Given the description of an element on the screen output the (x, y) to click on. 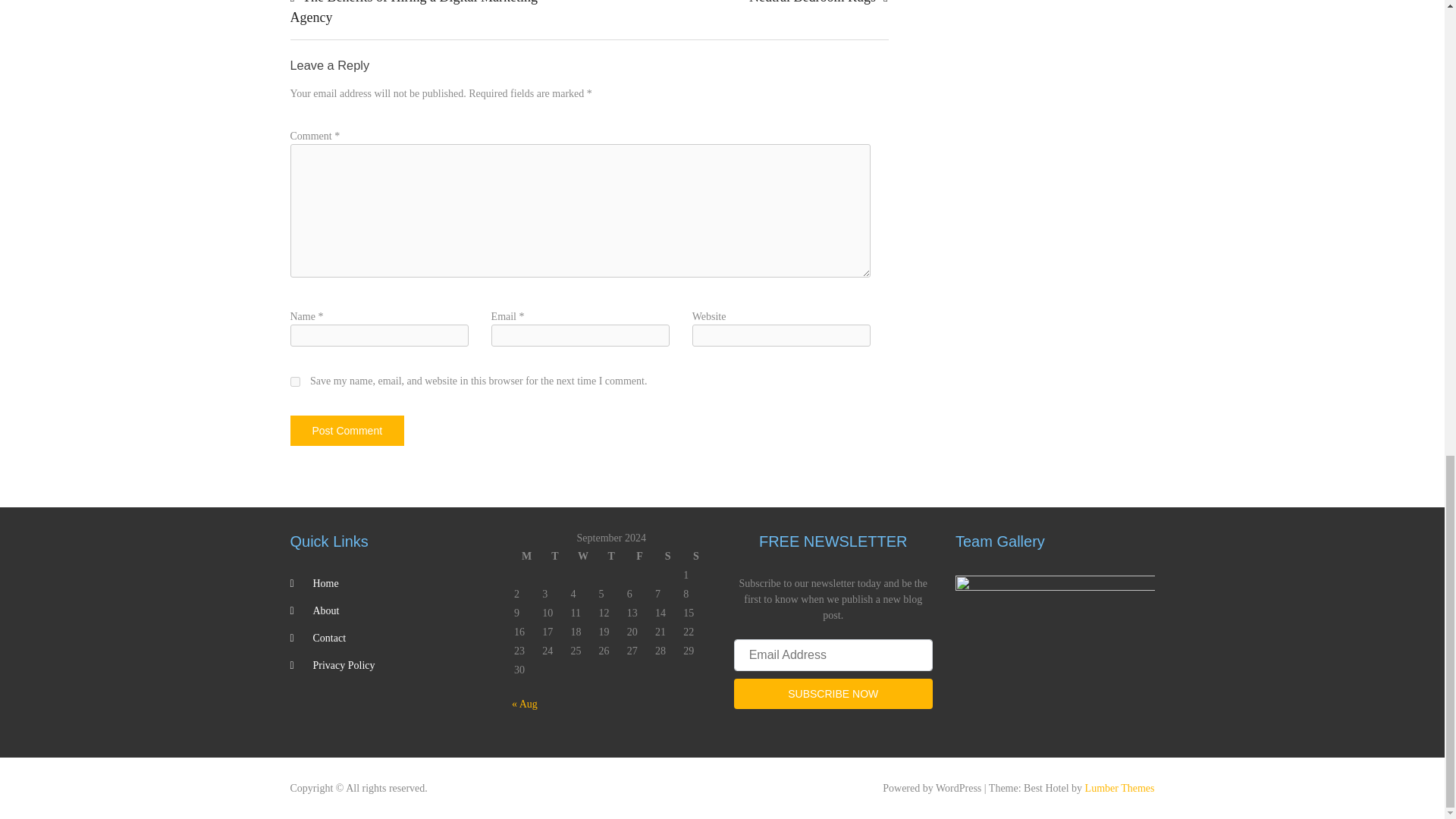
Contact (329, 637)
Privacy Policy (343, 665)
Home (325, 583)
yes (294, 381)
About (326, 610)
The Benefits of Hiring a Digital Marketing Agency (413, 12)
SUBSCRIBE NOW (833, 693)
SUBSCRIBE NOW (833, 693)
Lumber Themes (1119, 787)
Post Comment (346, 430)
